Given the description of an element on the screen output the (x, y) to click on. 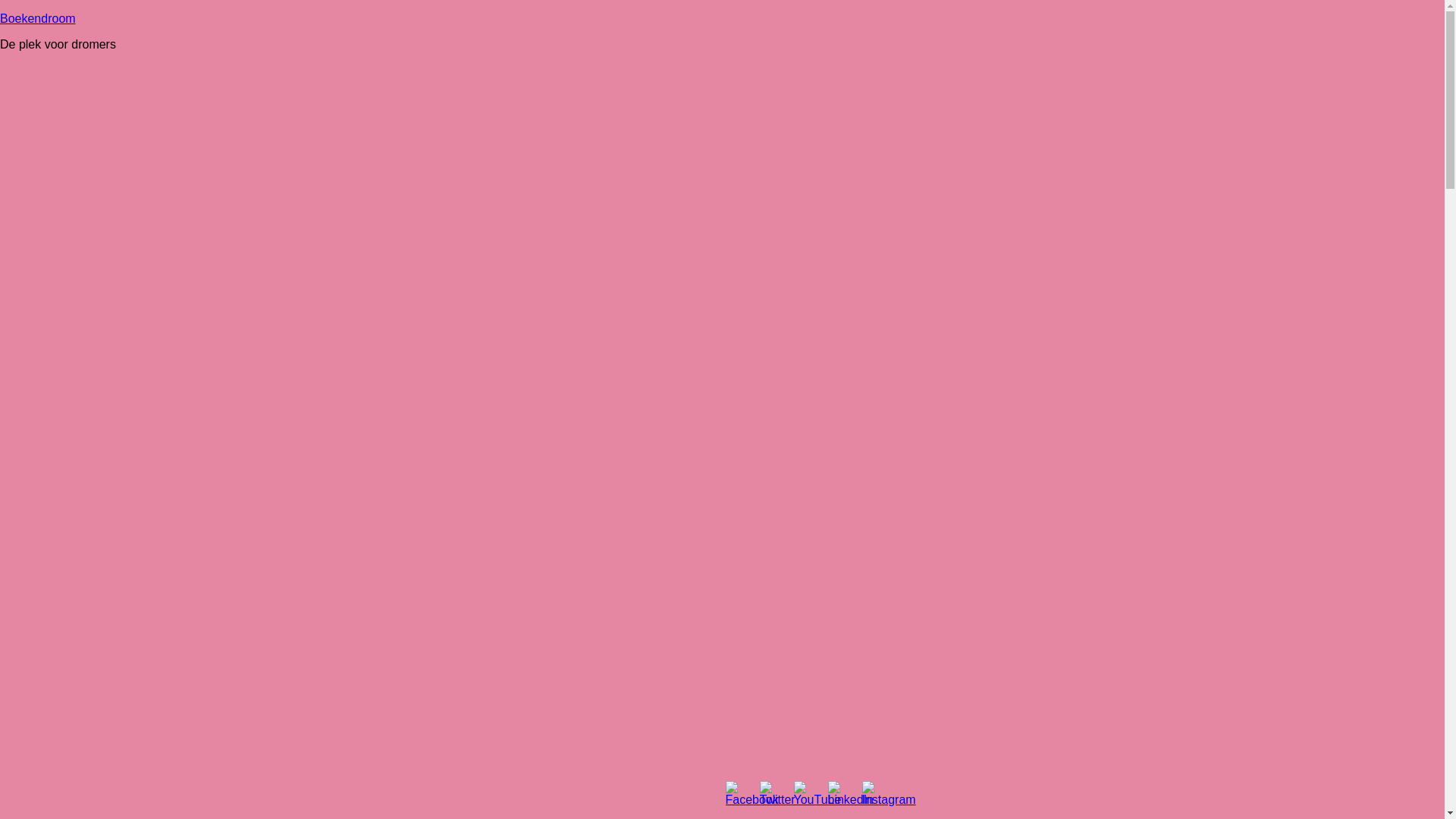
Instagram Element type: hover (888, 793)
LinkedIn Element type: hover (851, 793)
YouTube Element type: hover (816, 793)
Facebook Element type: hover (751, 793)
Boekendroom Element type: text (37, 18)
Twitter Element type: hover (777, 793)
